Given the description of an element on the screen output the (x, y) to click on. 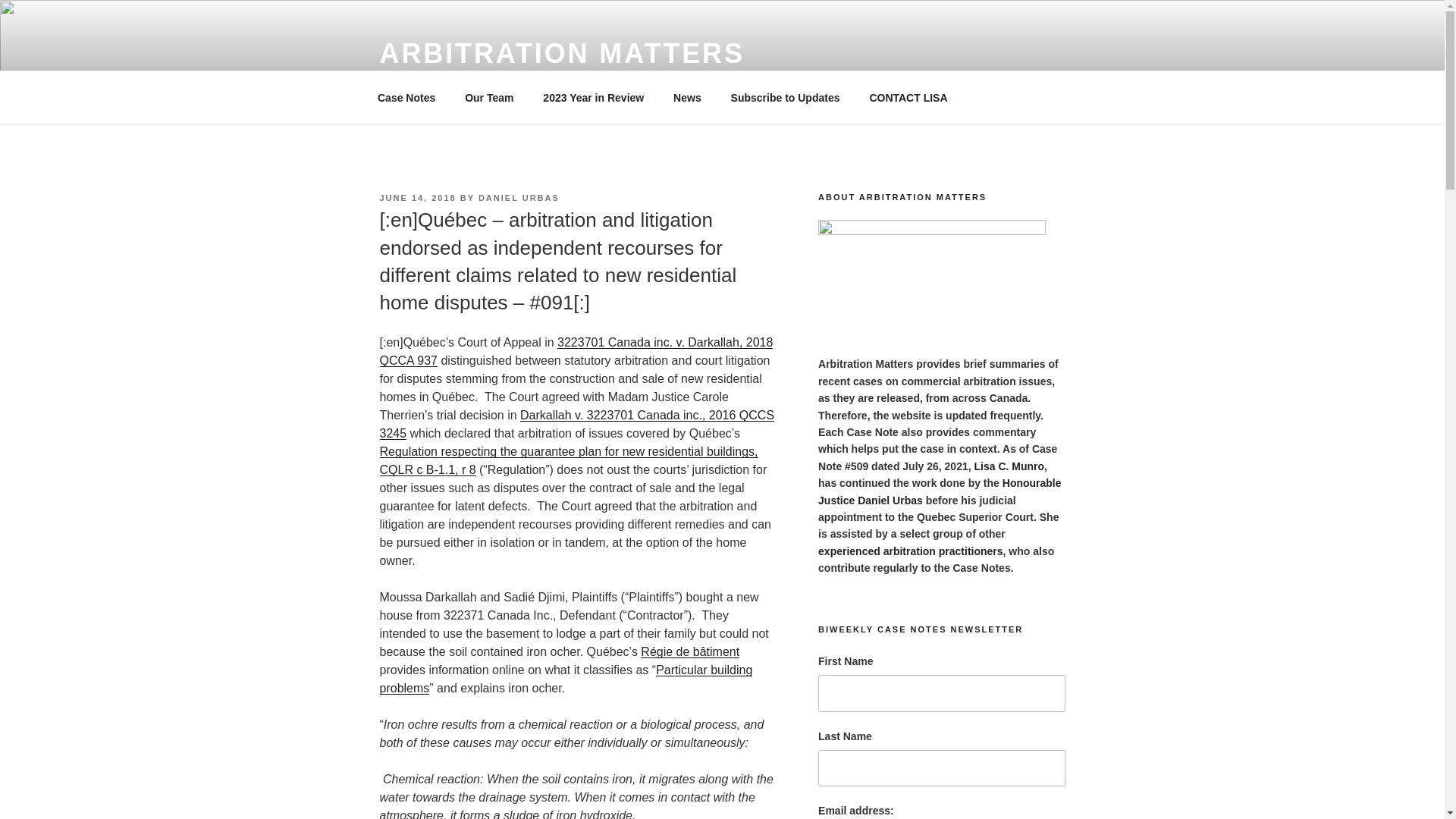
Case Notes (406, 97)
ARBITRATION MATTERS (561, 52)
CONTACT LISA (908, 97)
2023 Year in Review (593, 97)
DANIEL URBAS (519, 197)
Honourable Justice Daniel Urbas (939, 491)
Particular building problems (565, 678)
experienced arbitration practitioners (910, 551)
3223701 Canada inc. v. Darkallah, 2018 QCCA 937 (575, 350)
